Given the description of an element on the screen output the (x, y) to click on. 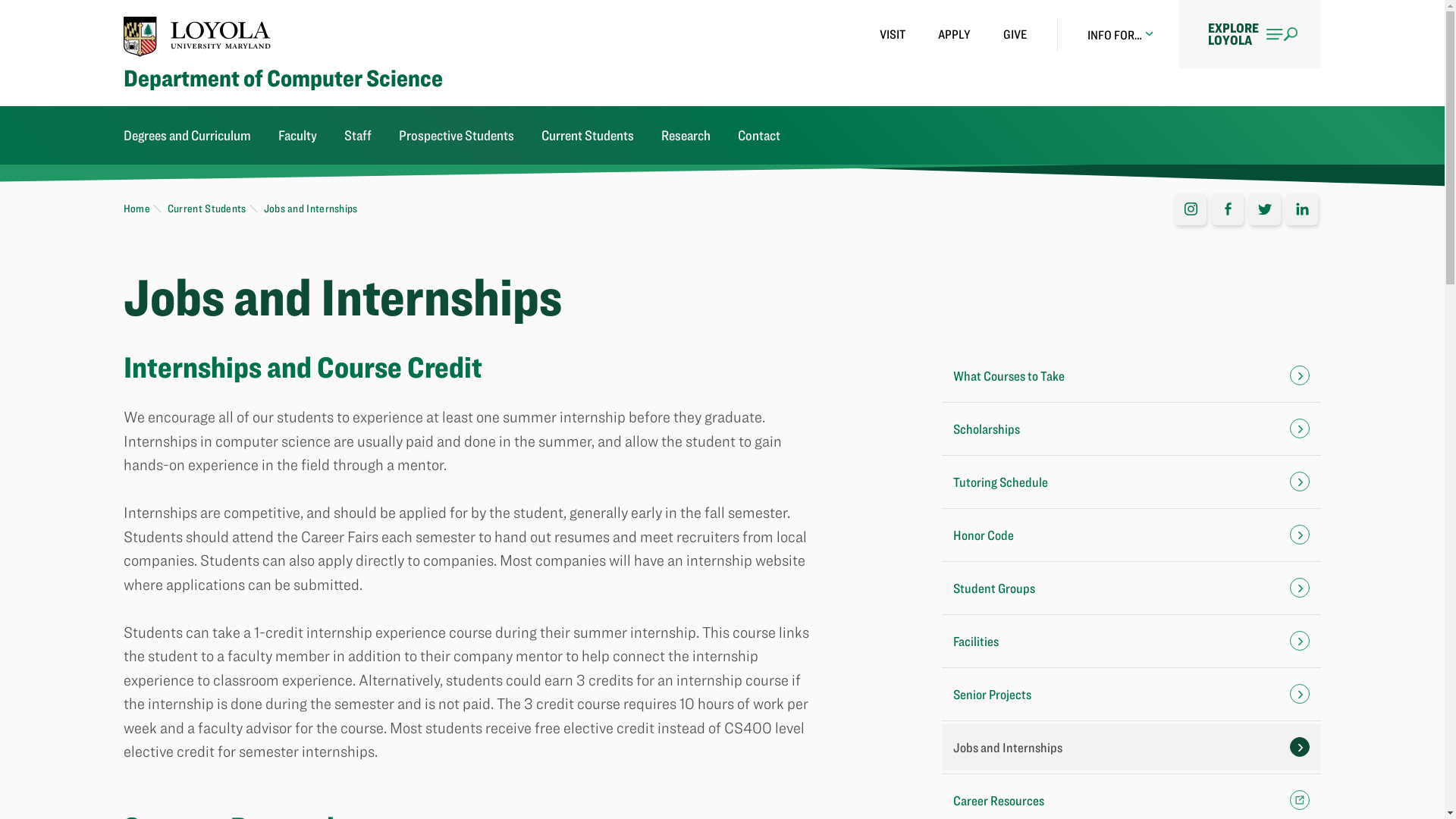
Logo (196, 35)
EXPLORE LOYOLA (1249, 33)
VISIT (892, 34)
APPLY (954, 34)
GIVE (1015, 34)
